Given the description of an element on the screen output the (x, y) to click on. 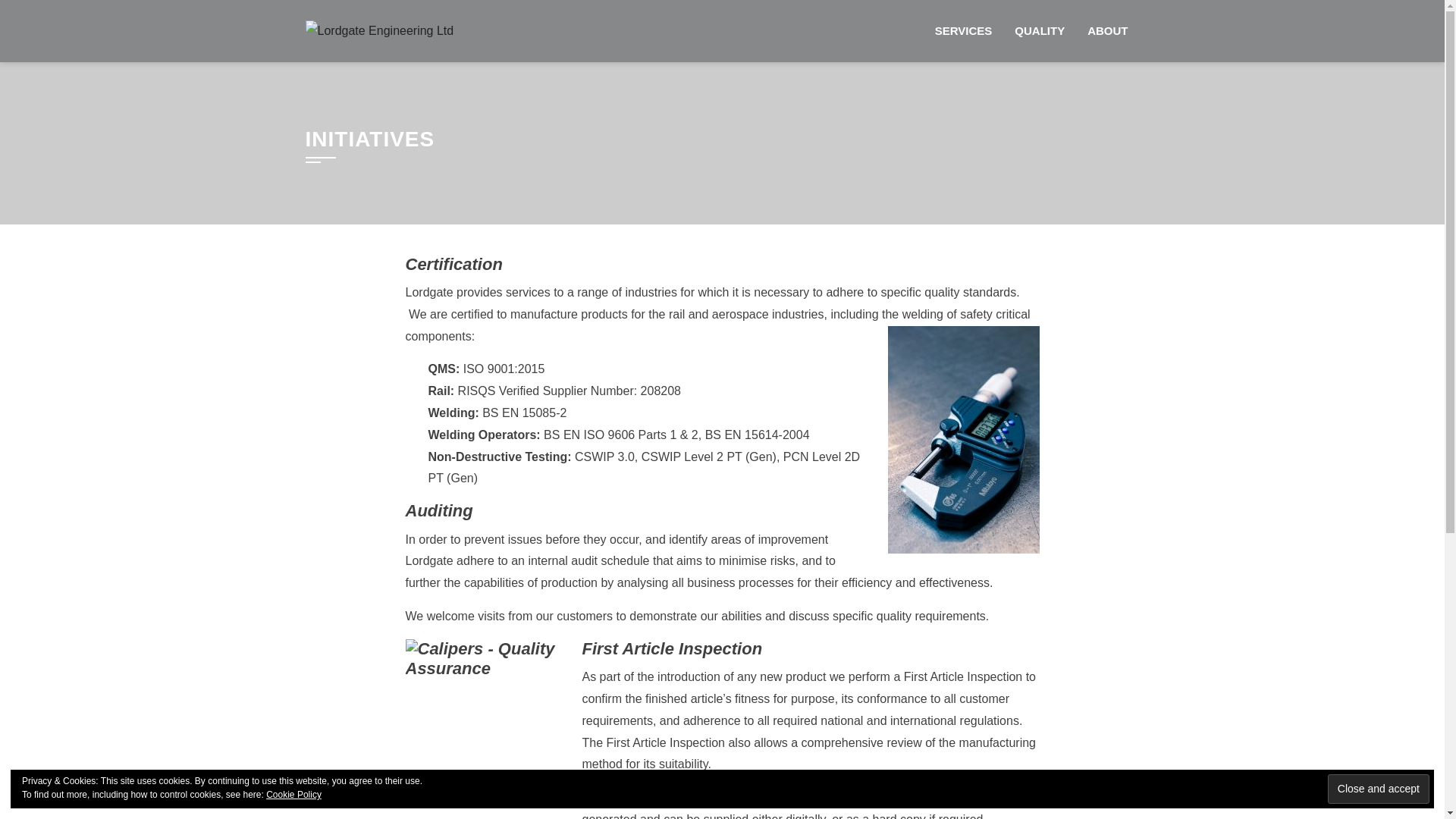
Cookie Policy (293, 794)
QUALITY (1039, 31)
Close and accept (1378, 788)
Close and accept (1378, 788)
ABOUT (1106, 31)
SERVICES (963, 31)
